Given the description of an element on the screen output the (x, y) to click on. 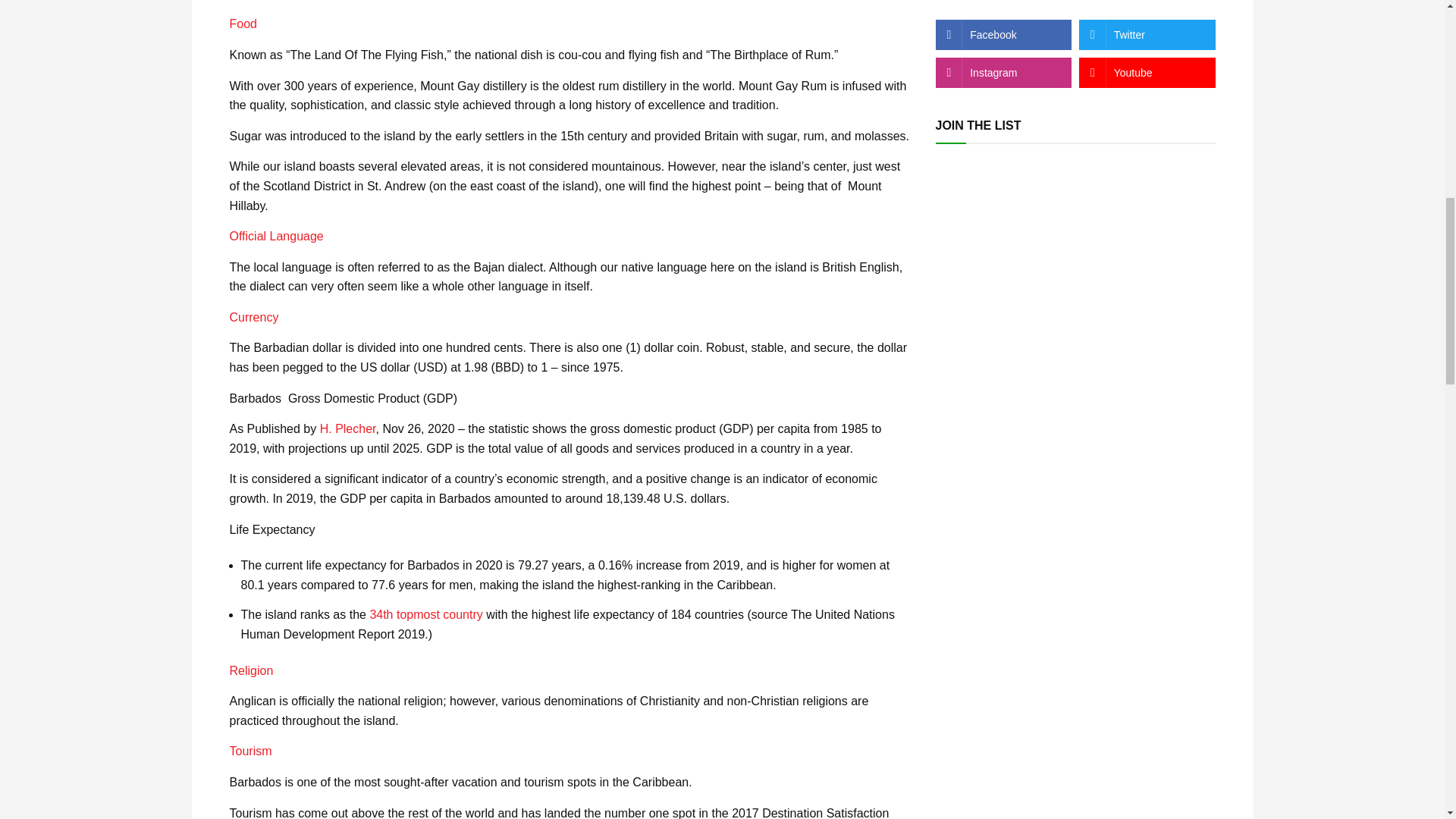
34th topmost country (425, 614)
Religion (250, 670)
H. Plecher (347, 428)
Currency (253, 317)
Food (242, 23)
Tourism (249, 750)
Official Language  (277, 236)
